Given the description of an element on the screen output the (x, y) to click on. 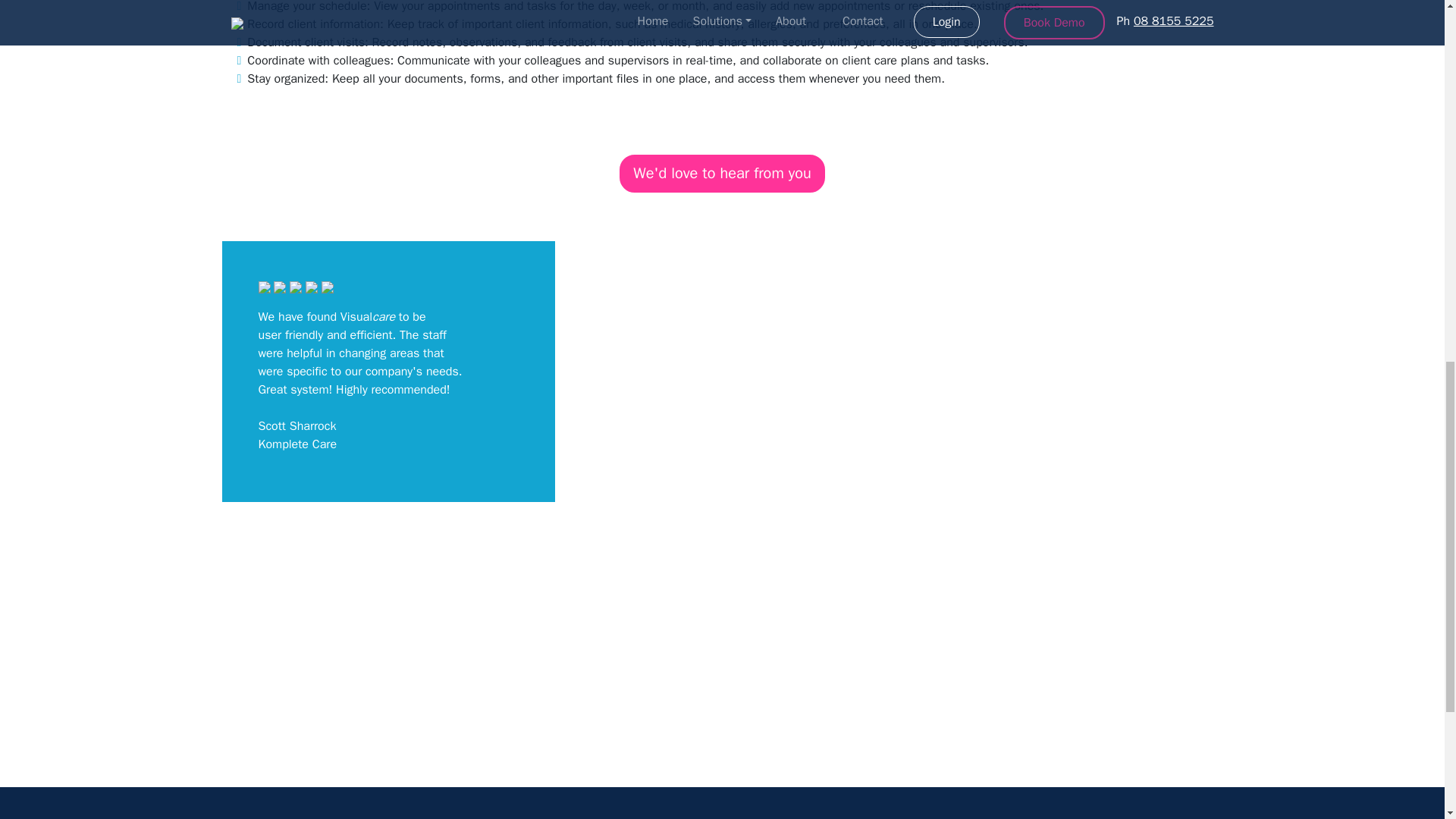
We'd love to hear from you (722, 173)
